Given the description of an element on the screen output the (x, y) to click on. 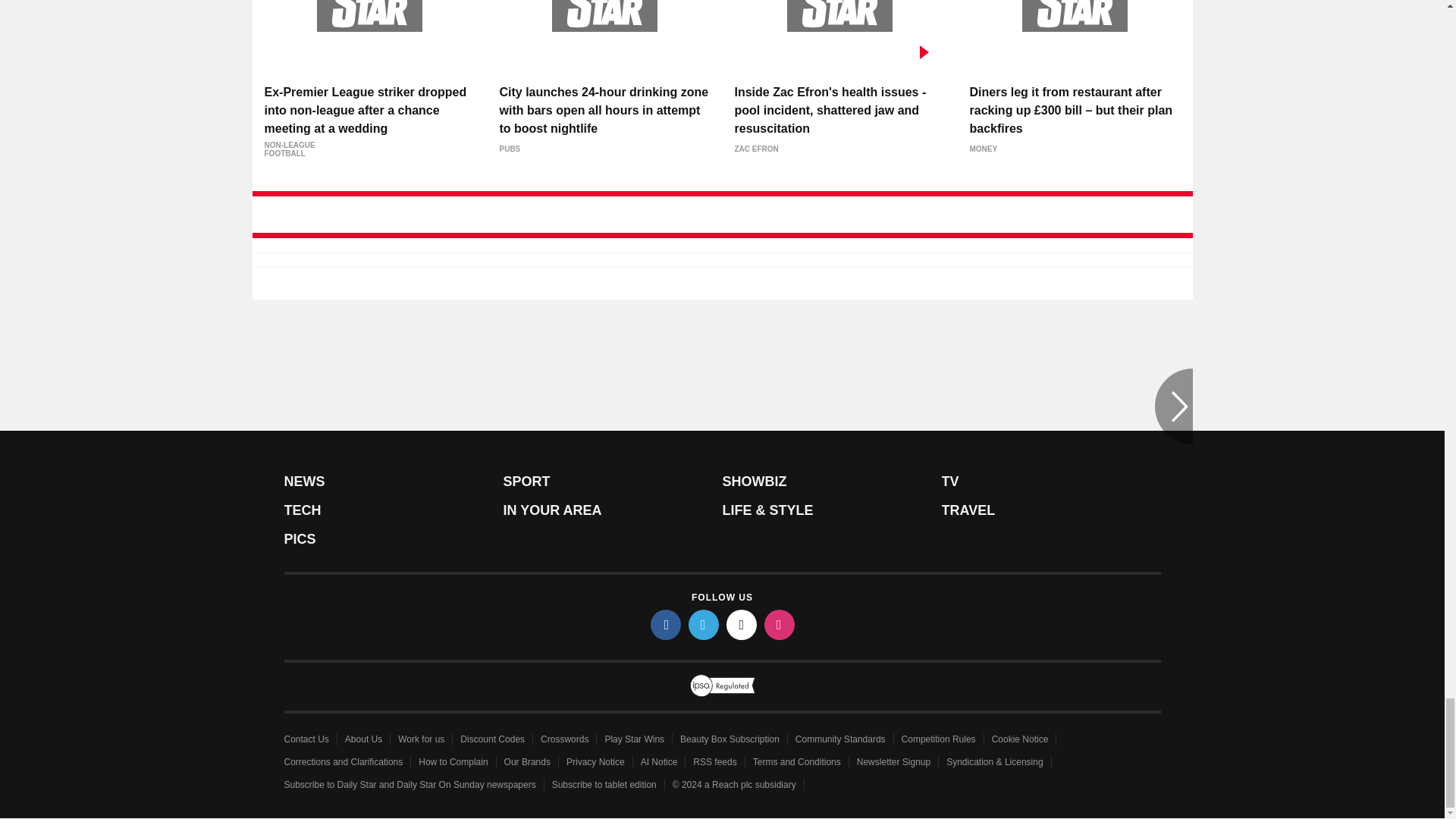
twitter (703, 624)
facebook (665, 624)
tiktok (741, 624)
instagram (779, 624)
